Given the description of an element on the screen output the (x, y) to click on. 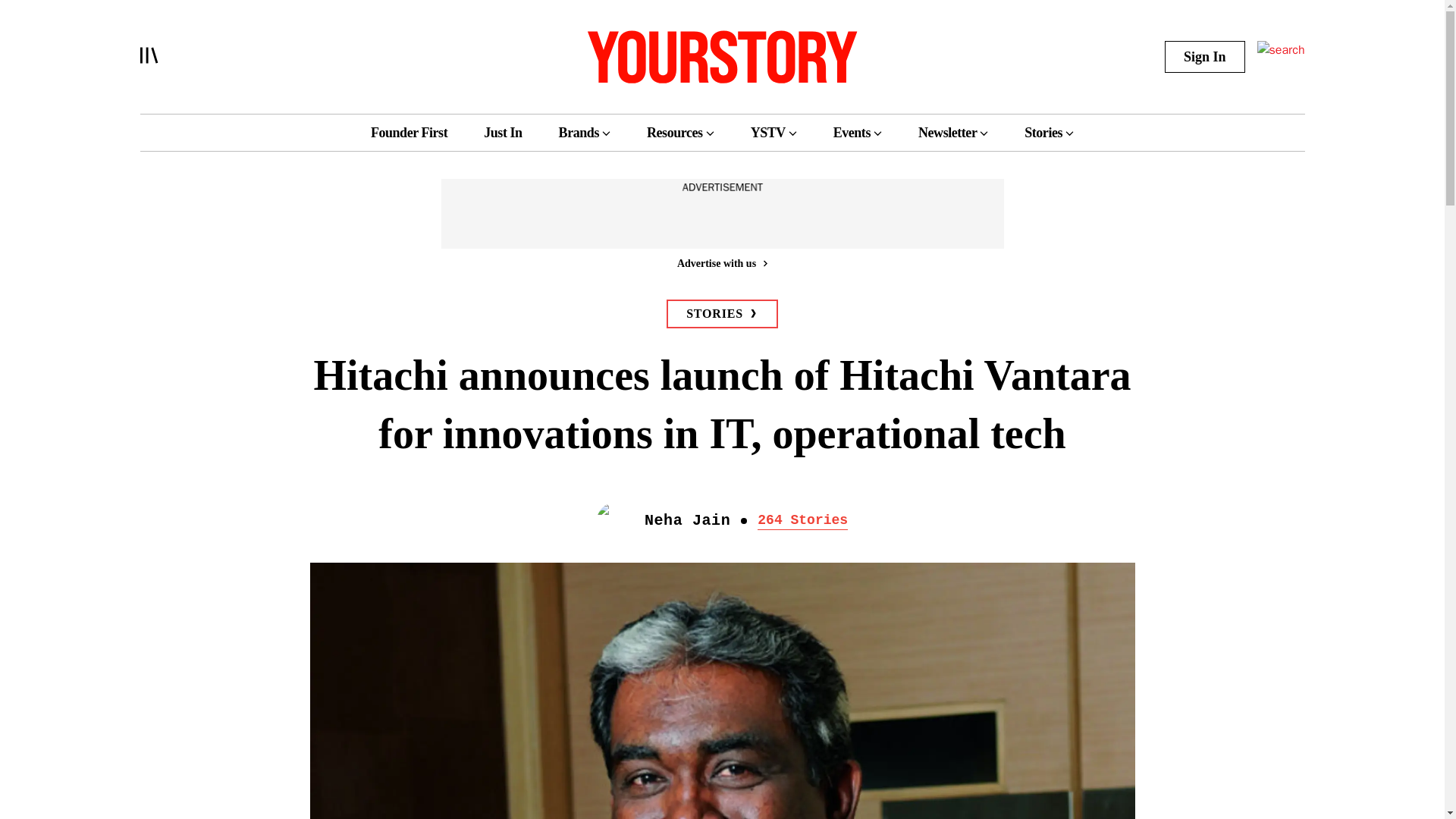
264 Stories (802, 520)
Neha Jain (687, 519)
Advertise with us (721, 263)
Just In (502, 132)
STORIES (721, 313)
Founder First (408, 132)
